Given the description of an element on the screen output the (x, y) to click on. 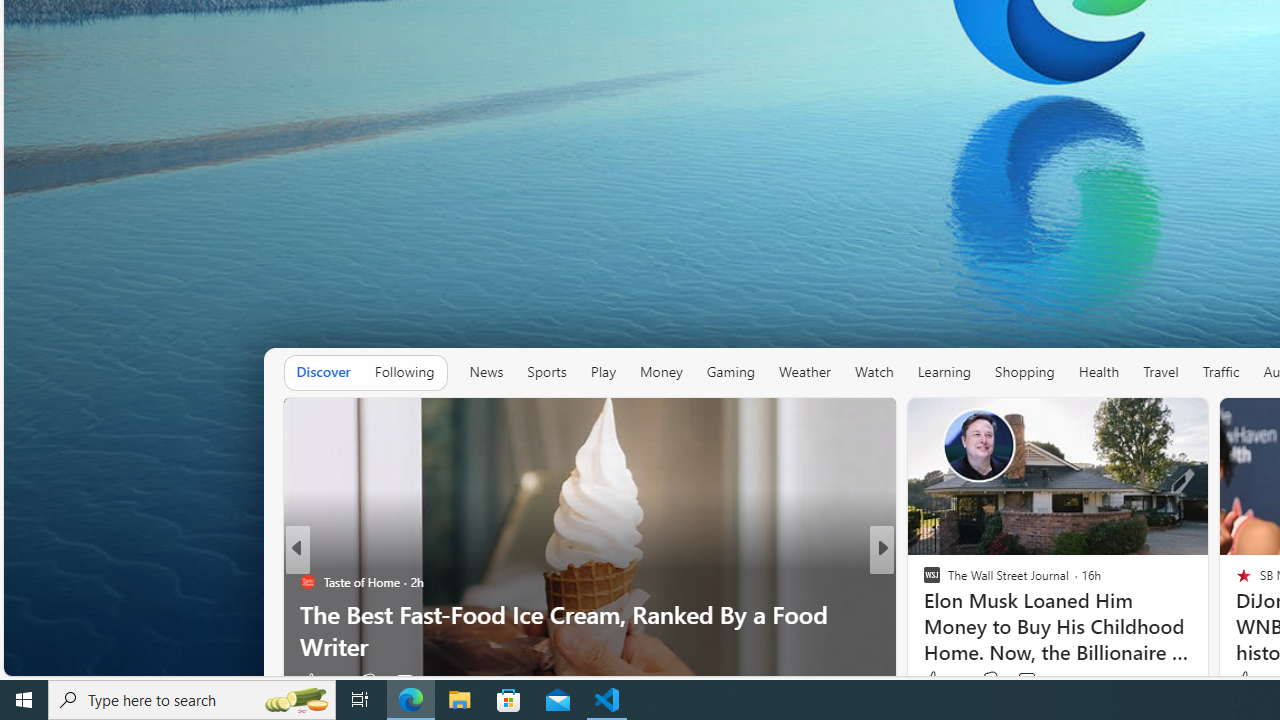
10 Like (1251, 680)
Dislike (989, 680)
View comments 116 Comment (1039, 680)
Start the conversation (1013, 681)
View comments 22 Comment (1029, 681)
View comments 62 Comment (1019, 681)
322 Like (936, 681)
Traffic (1220, 372)
View comments 22 Comment (1019, 681)
Taste of Home (923, 581)
Play (603, 372)
831 Like (936, 681)
View comments 65 Comment (1029, 681)
SB Nation (307, 581)
